Given the description of an element on the screen output the (x, y) to click on. 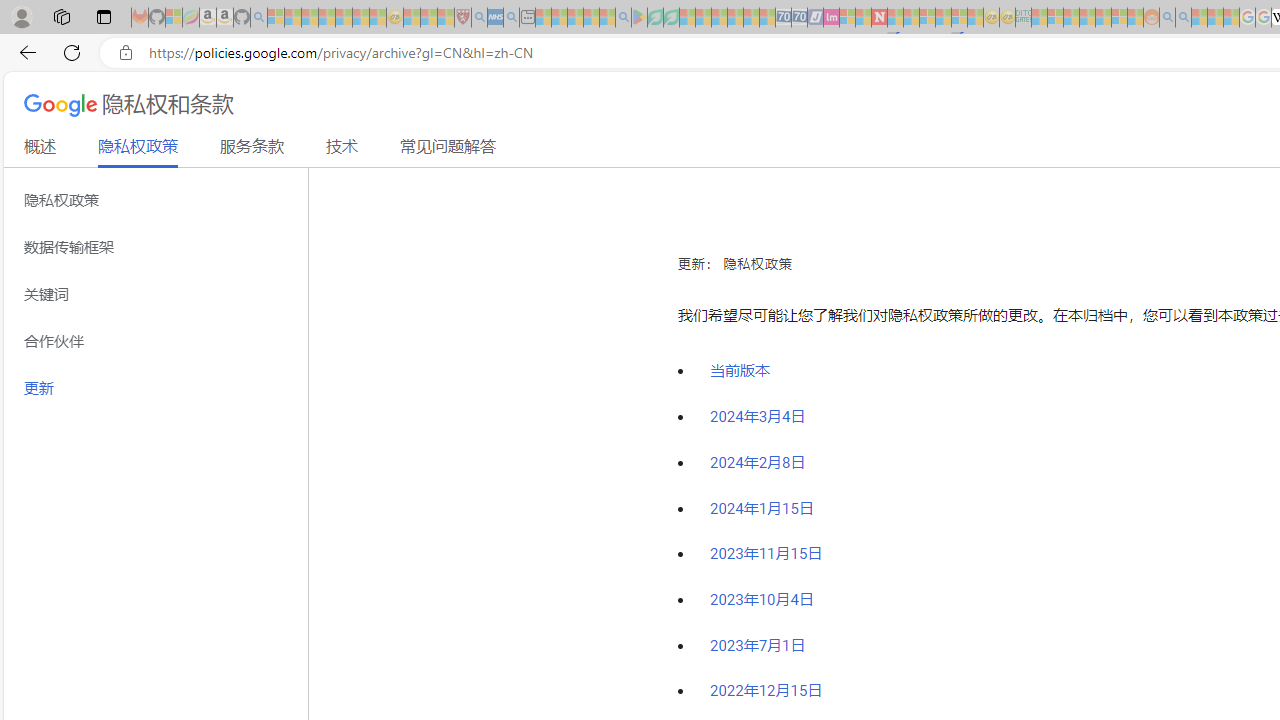
Expert Portfolios - Sleeping (1087, 17)
utah sues federal government - Search - Sleeping (511, 17)
The Weather Channel - MSN - Sleeping (309, 17)
Recipes - MSN - Sleeping (411, 17)
